Given the description of an element on the screen output the (x, y) to click on. 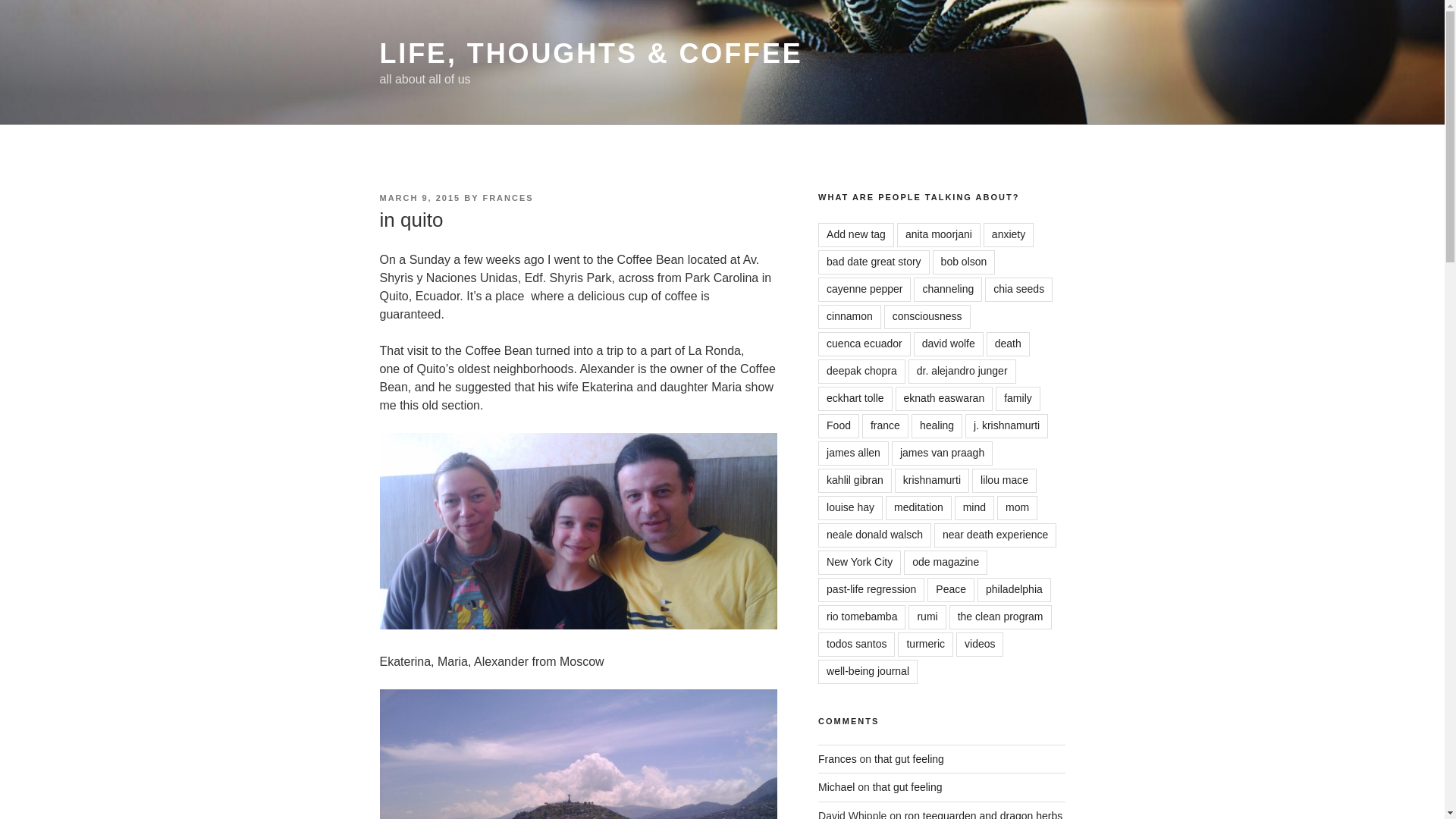
france (884, 426)
kahlil gibran (854, 480)
family (1018, 398)
james allen (853, 453)
cayenne pepper (864, 289)
consciousness (927, 316)
david wolfe (949, 344)
bob olson (964, 262)
j. krishnamurti (1006, 426)
channeling (947, 289)
